Given the description of an element on the screen output the (x, y) to click on. 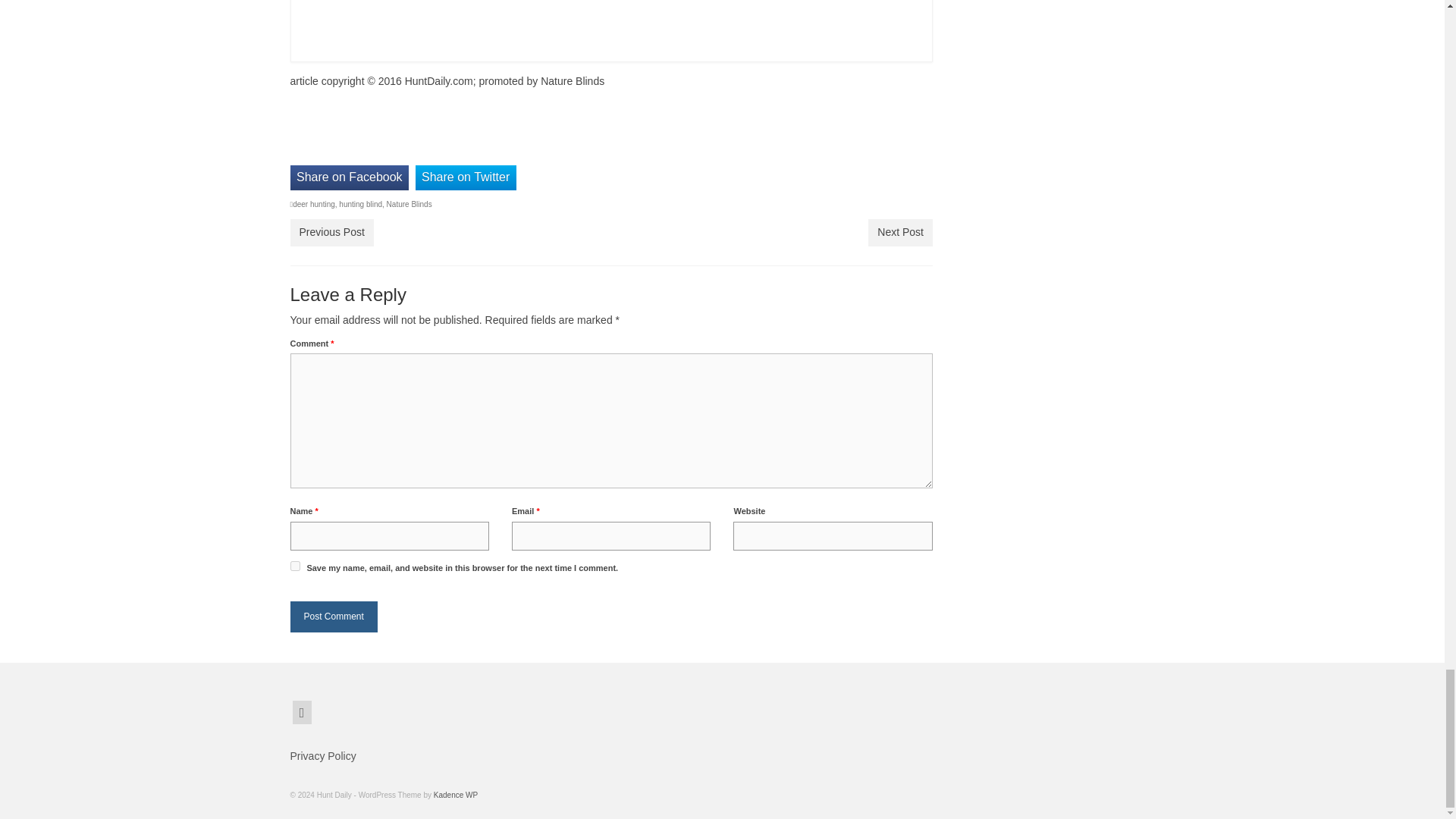
Post Comment (333, 616)
deer hunting (313, 203)
Post Comment (333, 616)
Previous Post (330, 232)
Next Post (900, 232)
yes (294, 565)
Share on Twitter (465, 177)
hunting blind (360, 203)
Nature Blinds (409, 203)
Share on Facebook (349, 177)
